Given the description of an element on the screen output the (x, y) to click on. 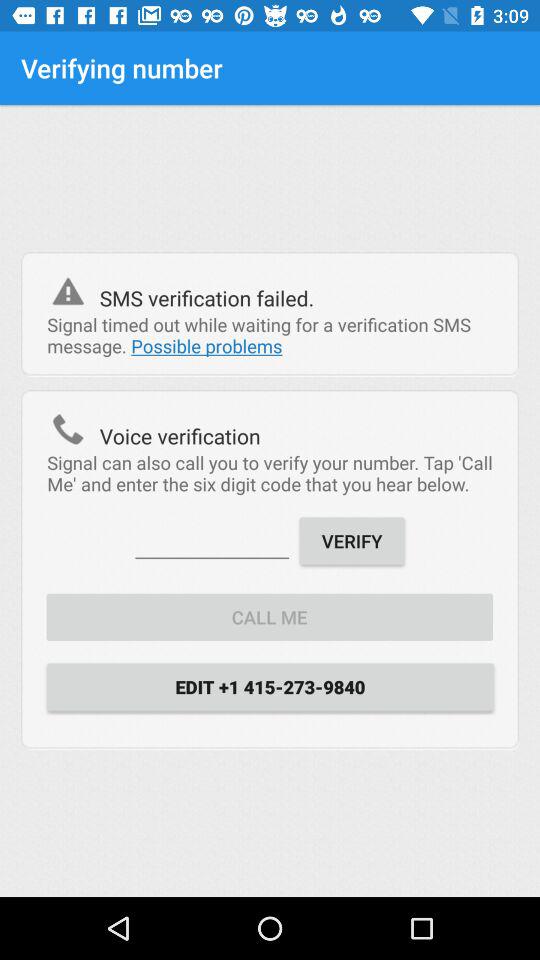
press icon above the call me icon (212, 539)
